Given the description of an element on the screen output the (x, y) to click on. 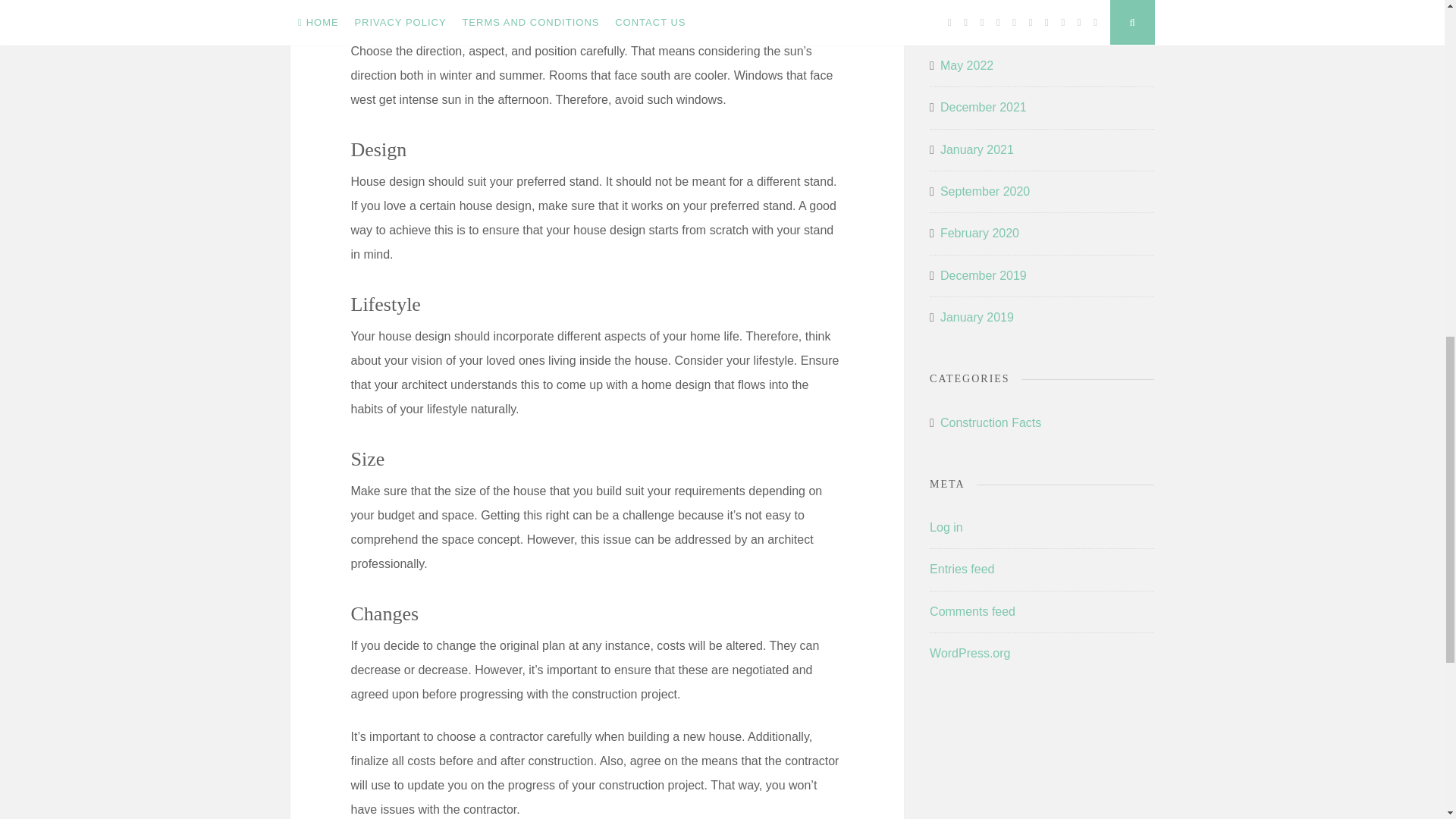
February 2020 (979, 233)
December 2021 (983, 107)
September 2020 (984, 191)
May 2022 (966, 65)
September 2022 (984, 24)
January 2021 (976, 150)
